Given the description of an element on the screen output the (x, y) to click on. 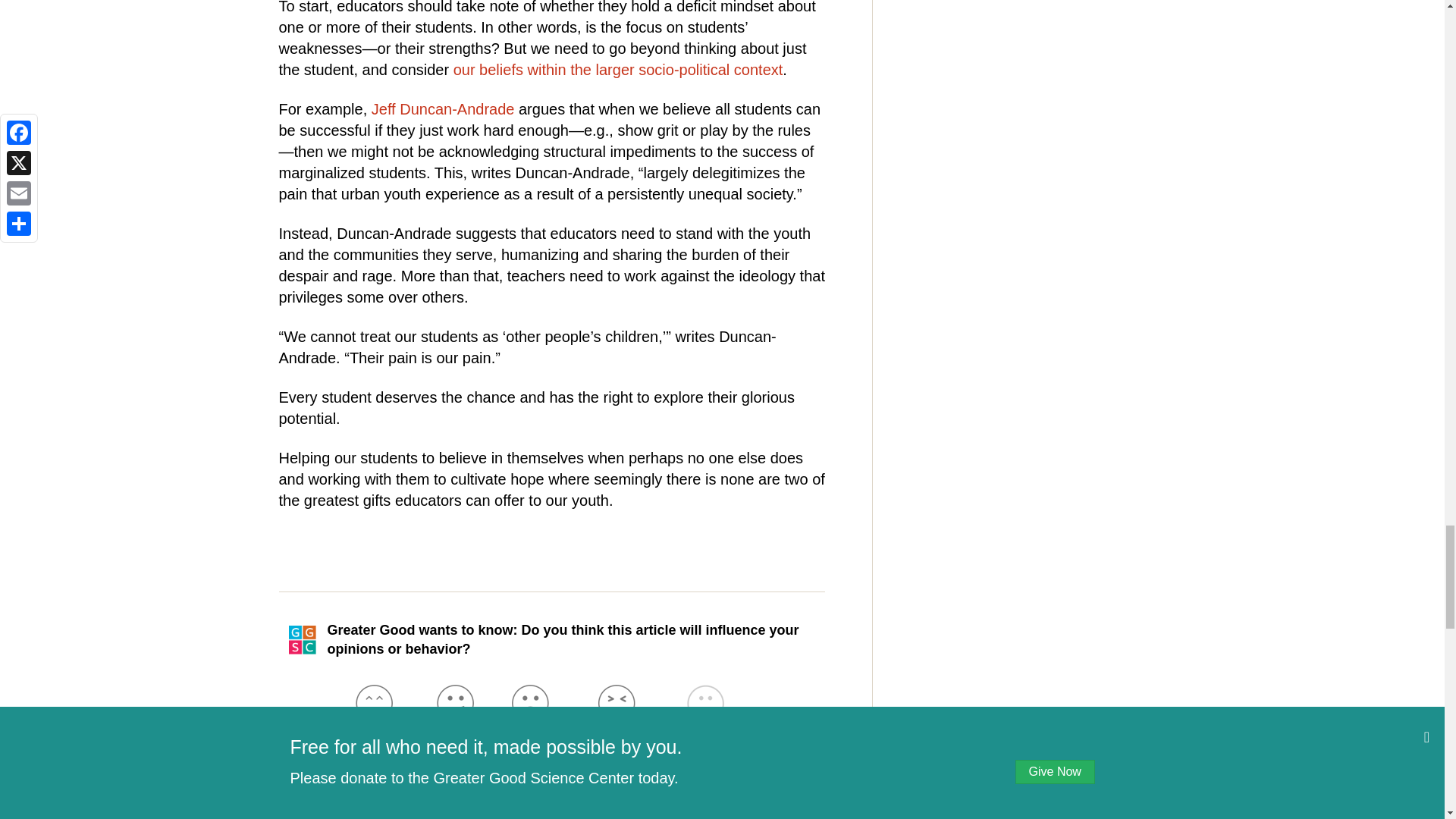
Sign Up (781, 818)
